Given the description of an element on the screen output the (x, y) to click on. 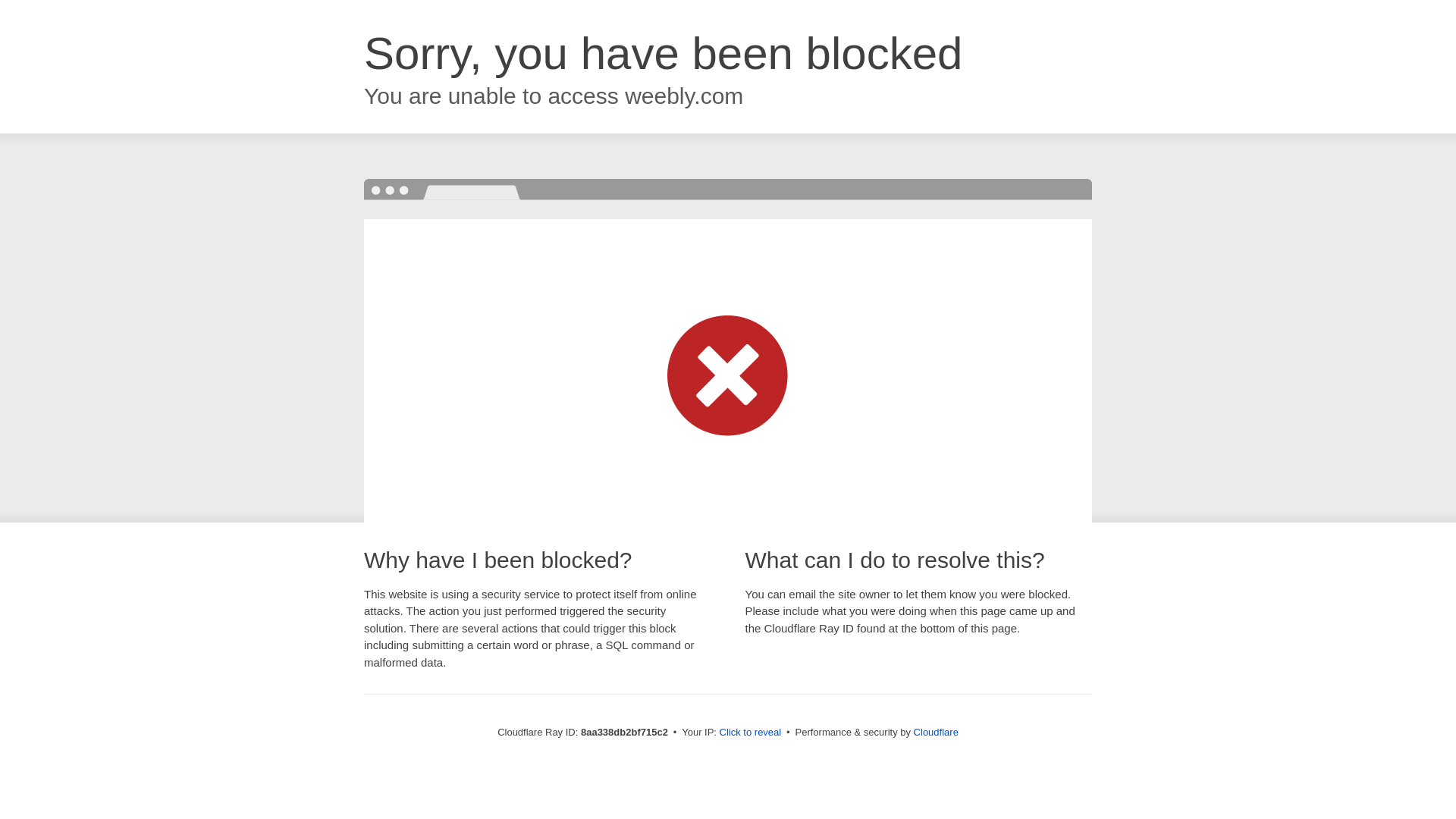
Click to reveal (750, 732)
Cloudflare (936, 731)
